Given the description of an element on the screen output the (x, y) to click on. 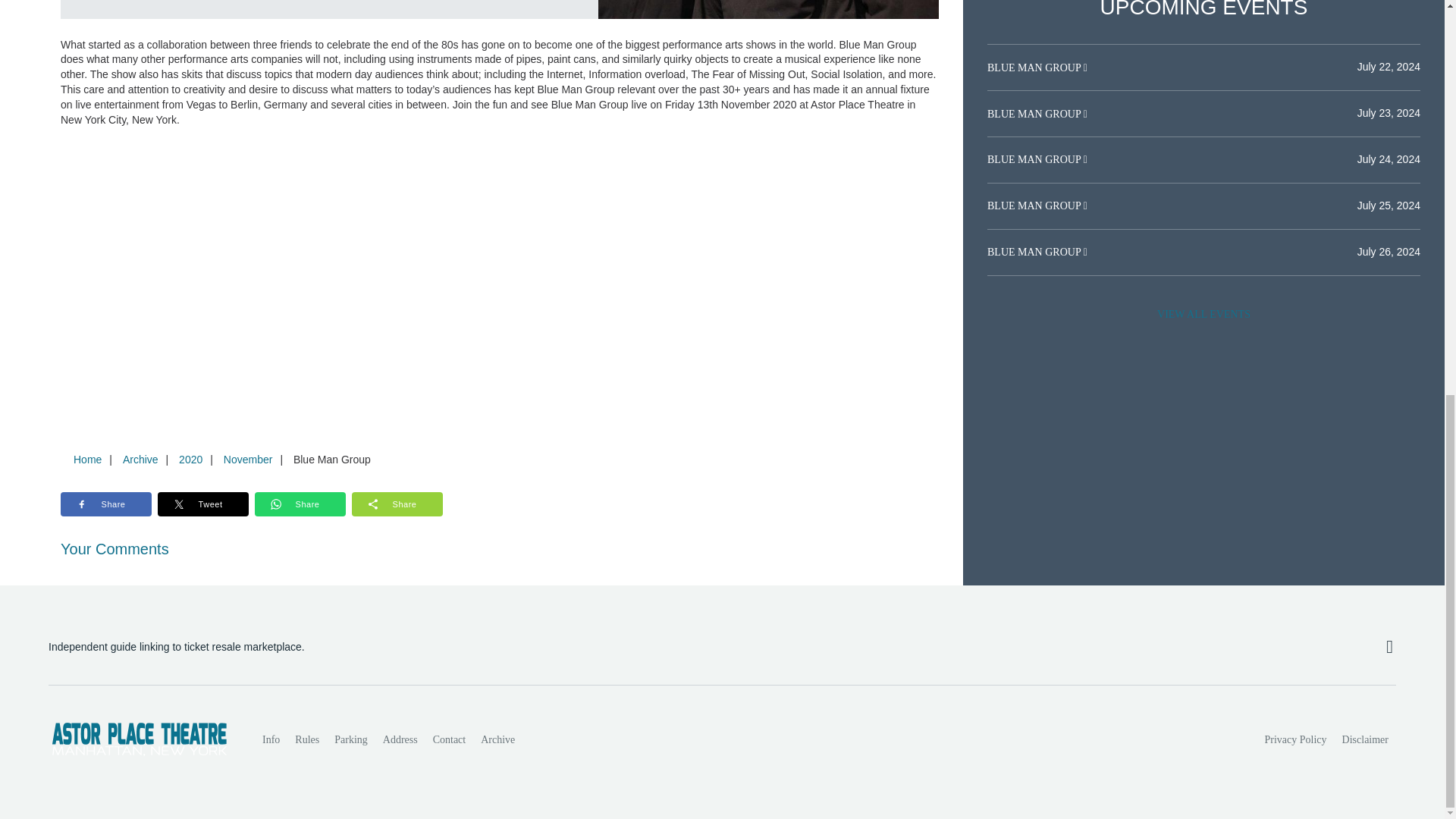
Archive (140, 459)
Blue Man Group at Astor Place Theatre (768, 9)
Address (400, 739)
VIEW ALL EVENTS (1203, 314)
2020 (190, 459)
Contact (449, 739)
Parking (350, 739)
Archive (497, 739)
Info (270, 739)
Privacy Policy (1296, 739)
Home (87, 459)
Disclaimer (1365, 739)
November (248, 459)
Rules (306, 739)
